Given the description of an element on the screen output the (x, y) to click on. 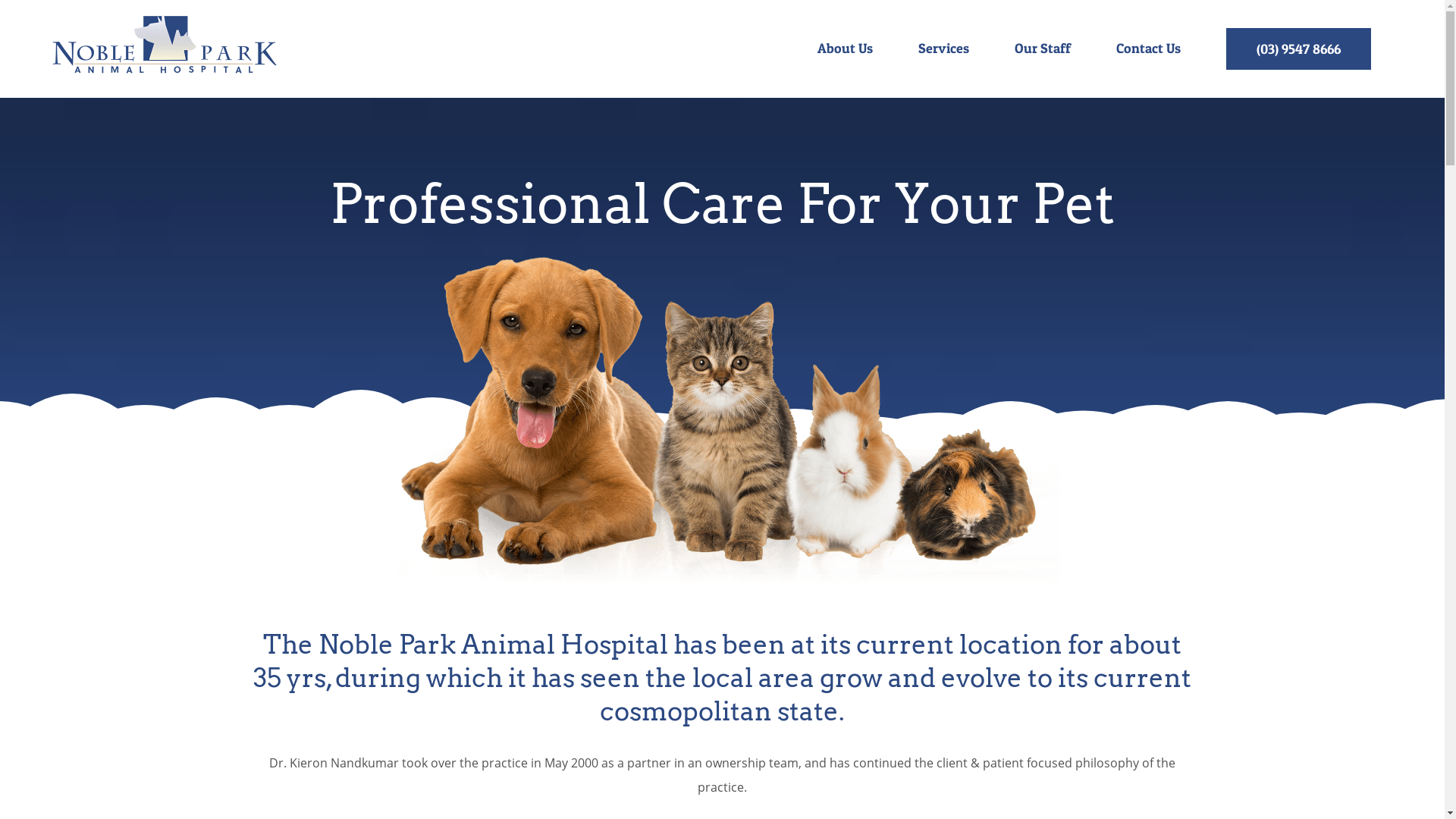
(03) 9547 8666 Element type: text (1298, 48)
Our Staff Element type: text (1042, 48)
Contact Us Element type: text (1148, 48)
Services Element type: text (943, 48)
About Us Element type: text (844, 48)
Noble Park Animal Hospital Element type: hover (721, 420)
